Given the description of an element on the screen output the (x, y) to click on. 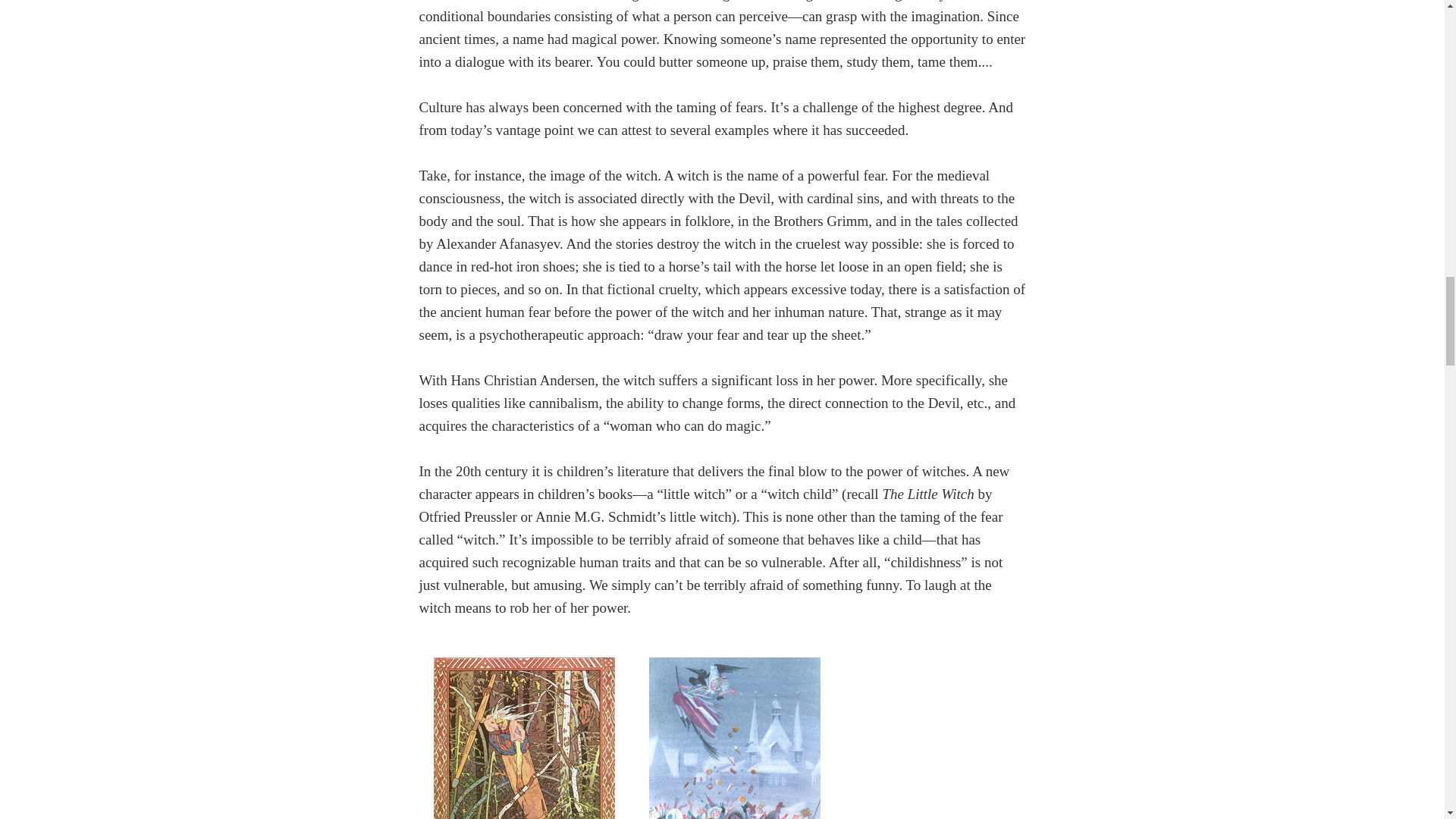
Ill. by Ivan Bilibin (524, 730)
Ill. by Nika Golts (734, 730)
